Given the description of an element on the screen output the (x, y) to click on. 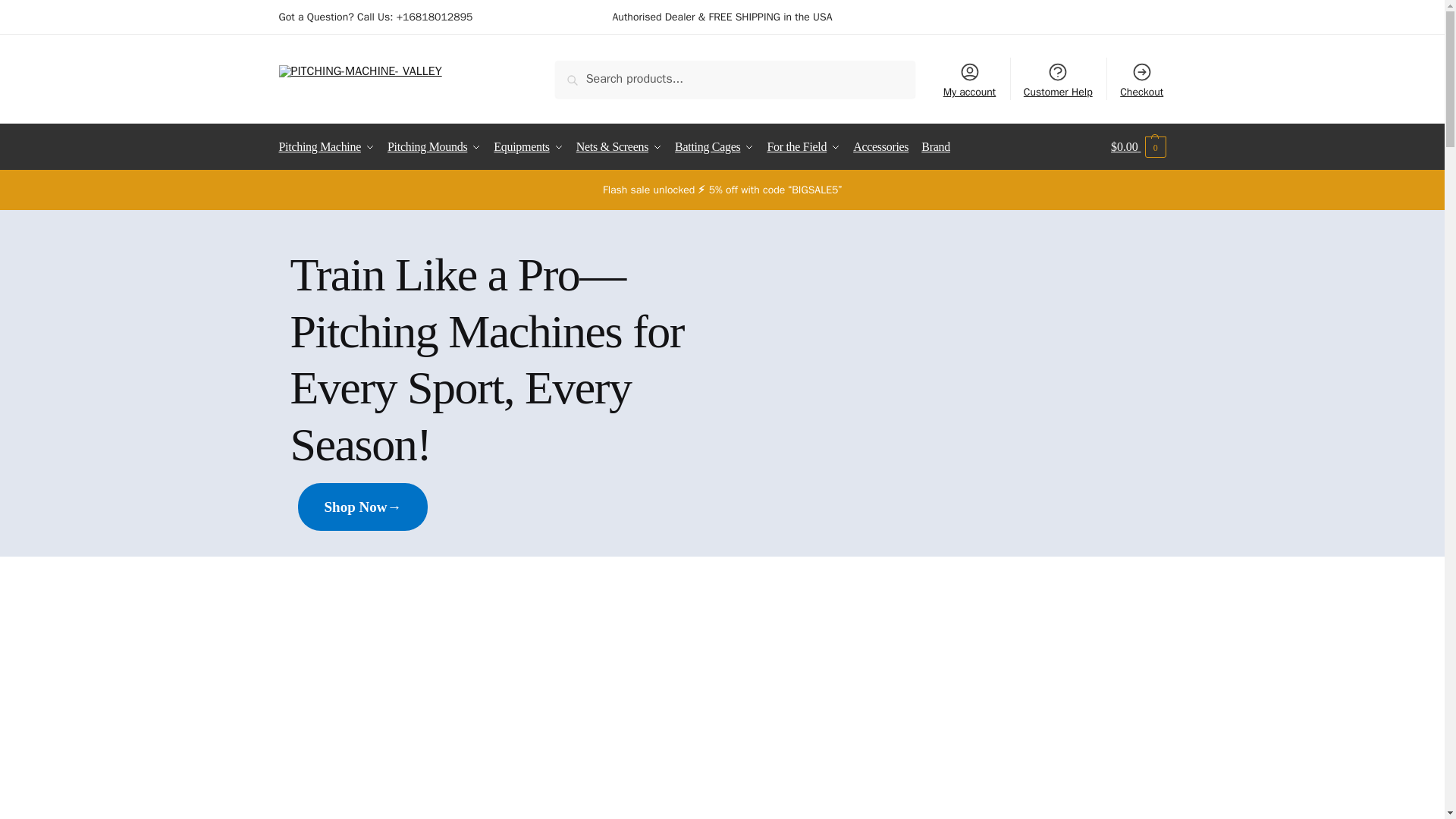
Equipments (528, 146)
Checkout (1141, 78)
Search (590, 77)
Customer Help (1058, 78)
Pitching Machine (330, 146)
My account (968, 78)
Pitching Mounds (433, 146)
View your shopping cart (1138, 146)
